Given the description of an element on the screen output the (x, y) to click on. 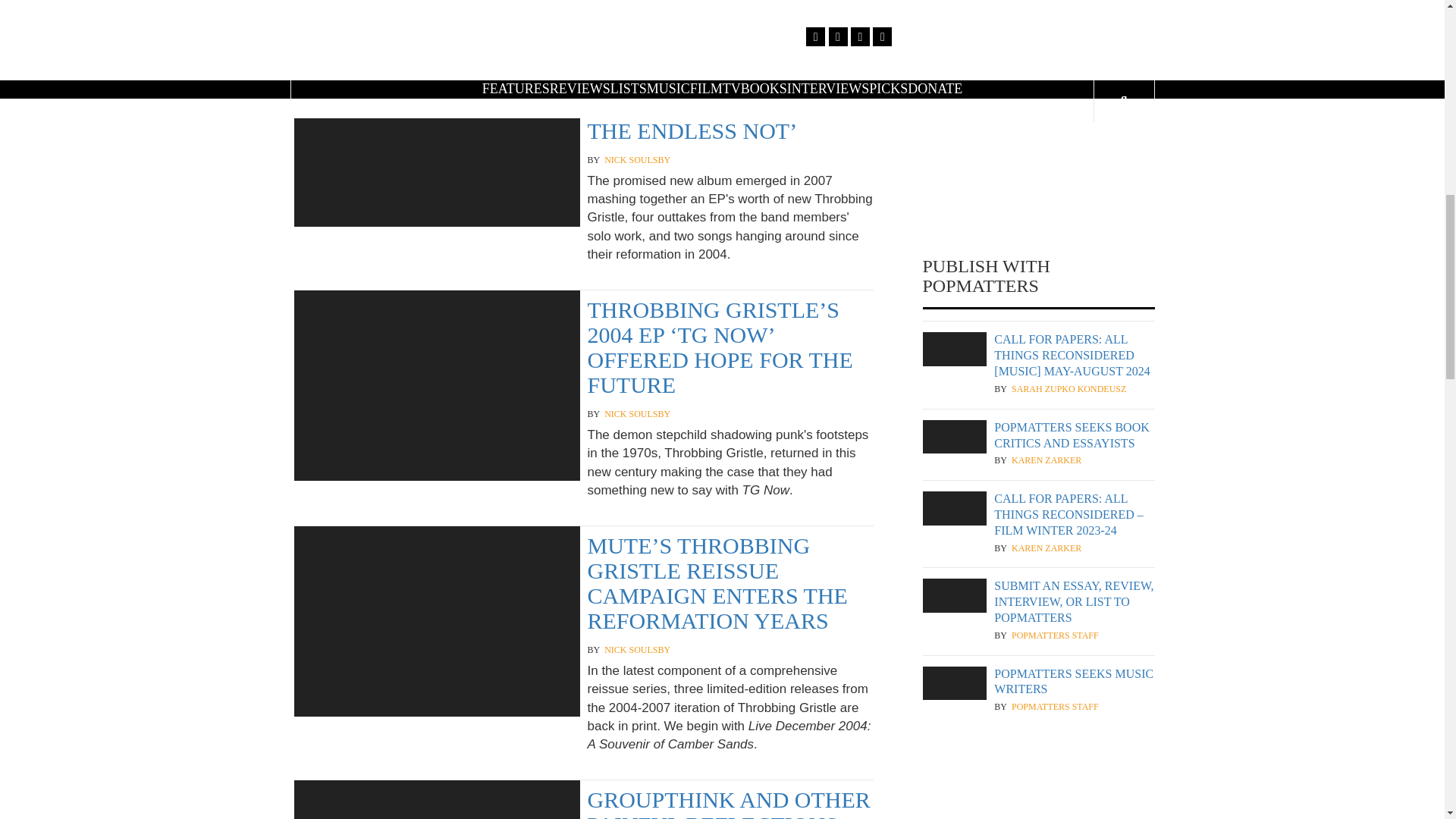
Nick Soulsby (636, 649)
Nick Soulsby (636, 160)
Nick Soulsby (636, 413)
